Given the description of an element on the screen output the (x, y) to click on. 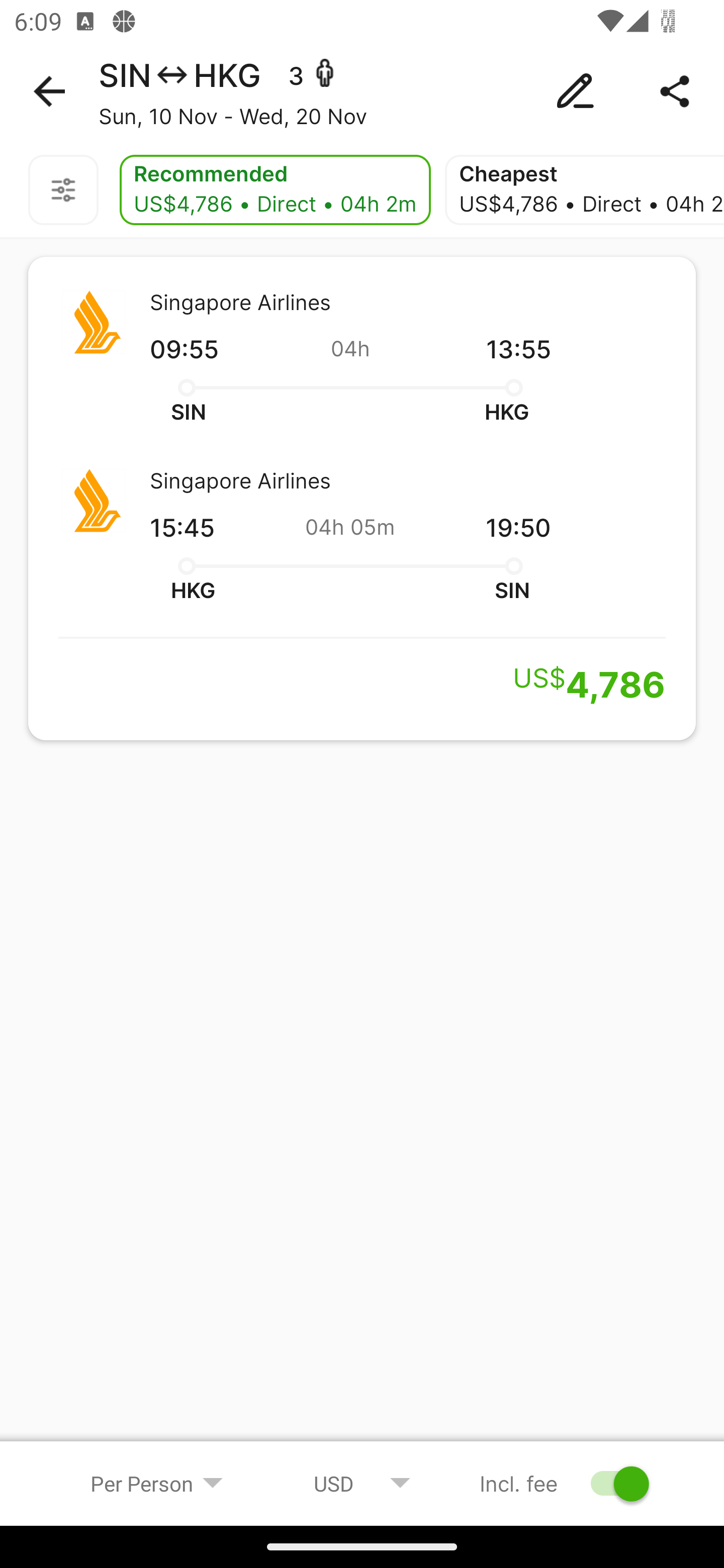
SIN HKG   3 - Sun, 10 Nov - Wed, 20 Nov (361, 91)
Recommended  US$4,786 • Direct • 04h 2m (274, 190)
Cheapest US$4,786 • Direct • 04h 2m (584, 190)
Per Person (156, 1482)
USD (361, 1482)
